Given the description of an element on the screen output the (x, y) to click on. 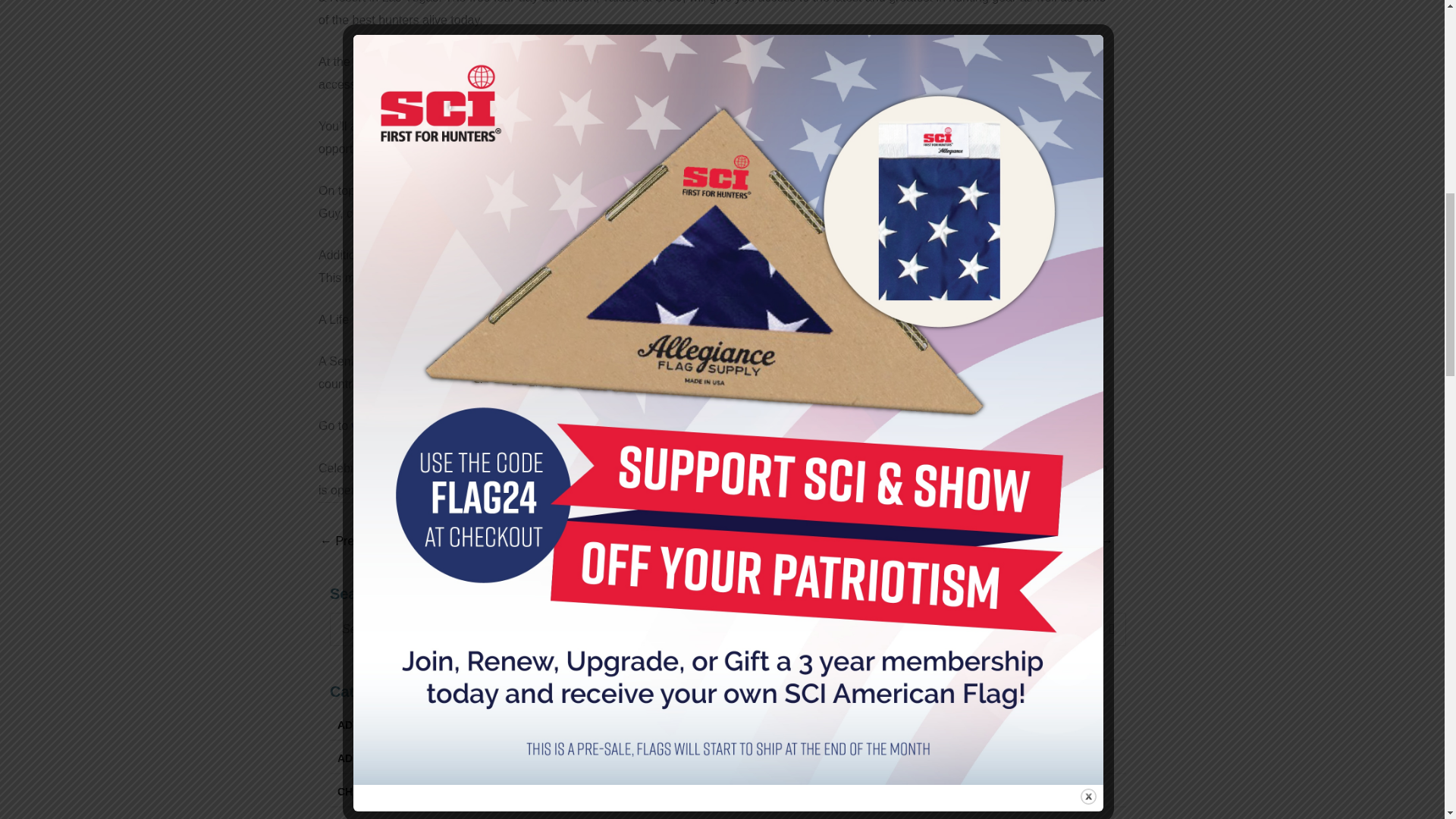
SCI Responds to UK's Trophy Ban Hearing (1079, 542)
SCI Event and Entertainment Ticket Prices Reduced (365, 542)
